Given the description of an element on the screen output the (x, y) to click on. 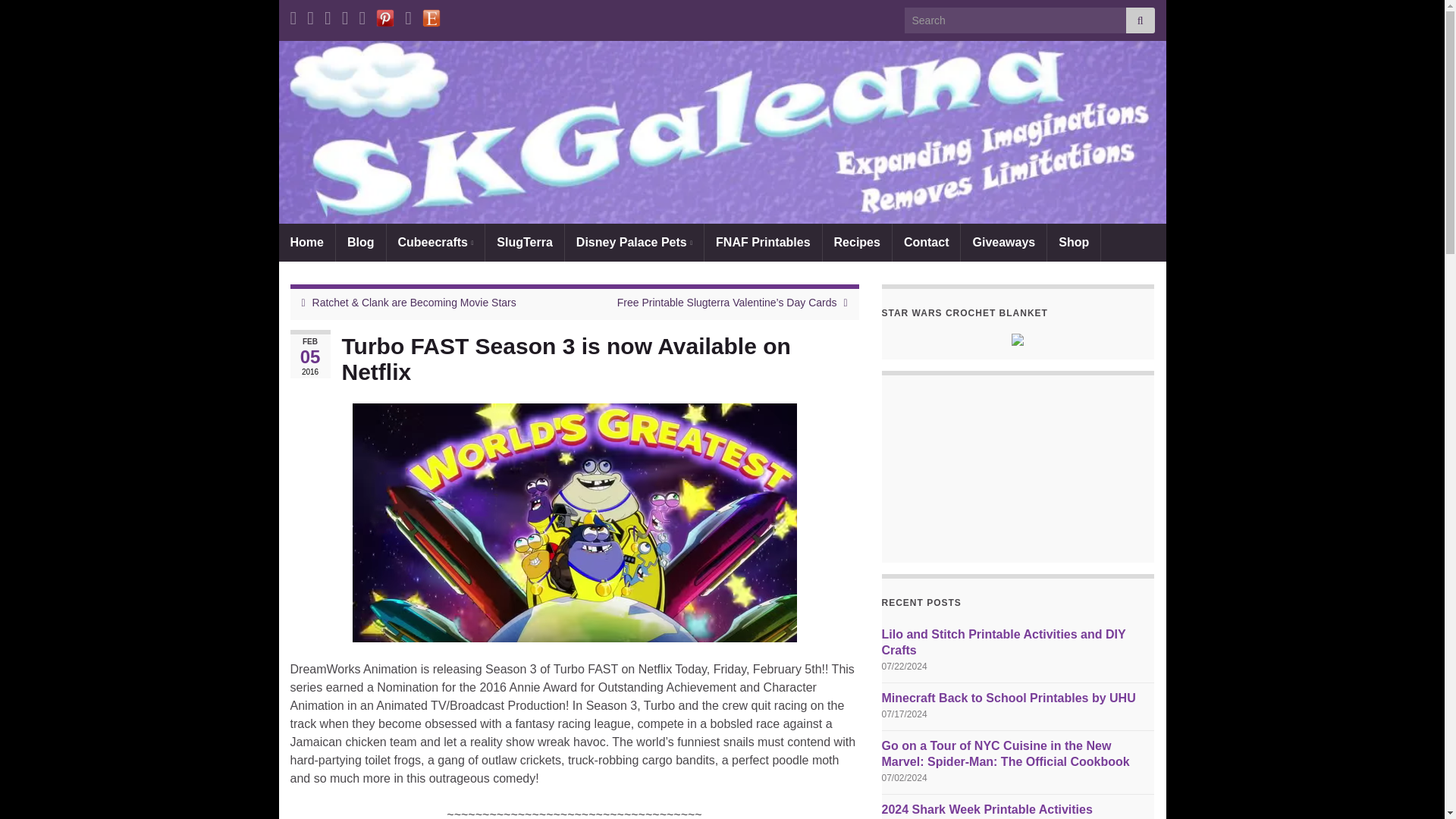
Cubeecrafts (435, 242)
Pintrest (384, 15)
Disney Palace Pets (633, 242)
SlugTerra (524, 242)
Home (306, 242)
Blog (360, 242)
